Given the description of an element on the screen output the (x, y) to click on. 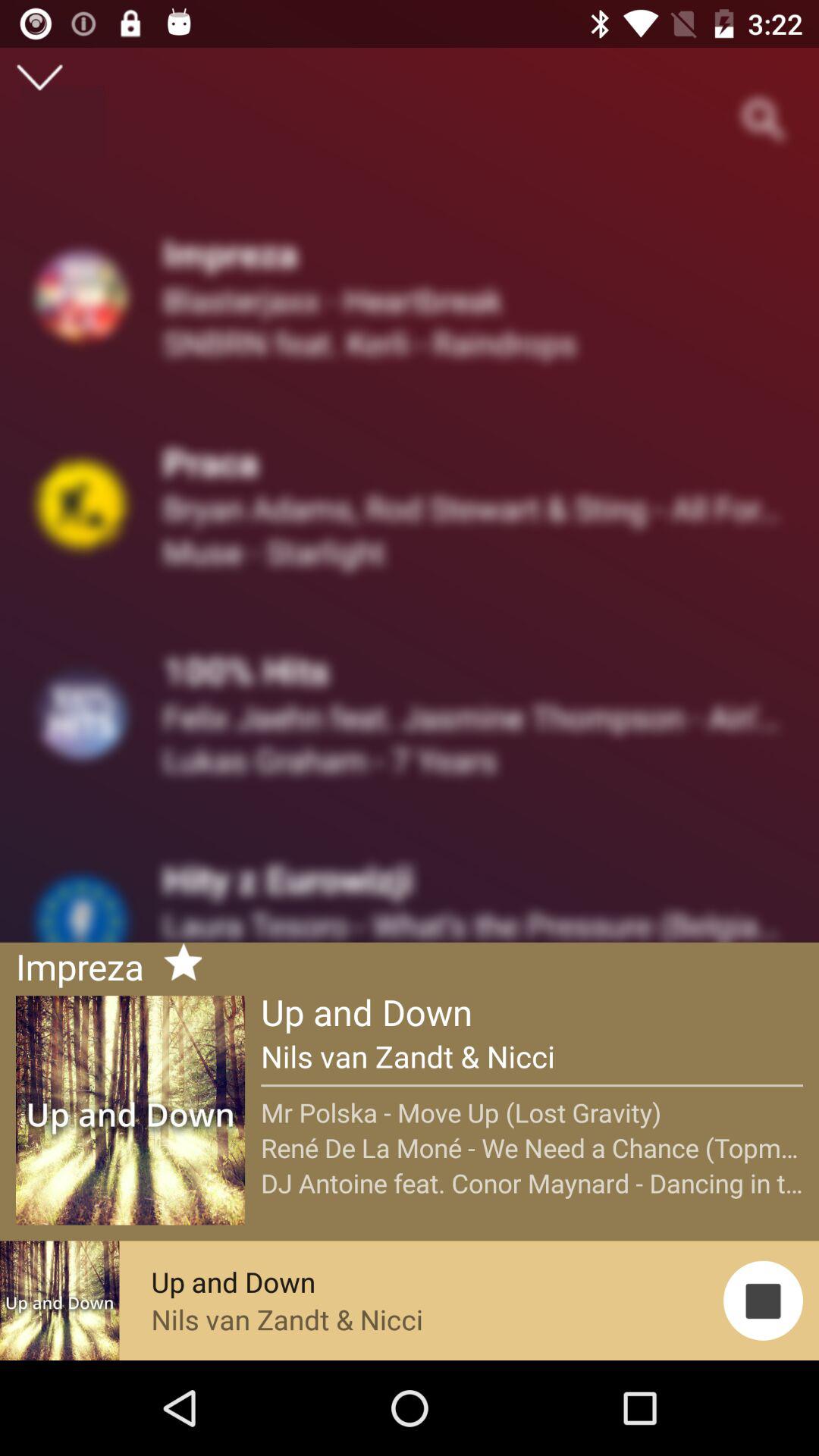
press icon to the left of the up and down item (176, 964)
